Given the description of an element on the screen output the (x, y) to click on. 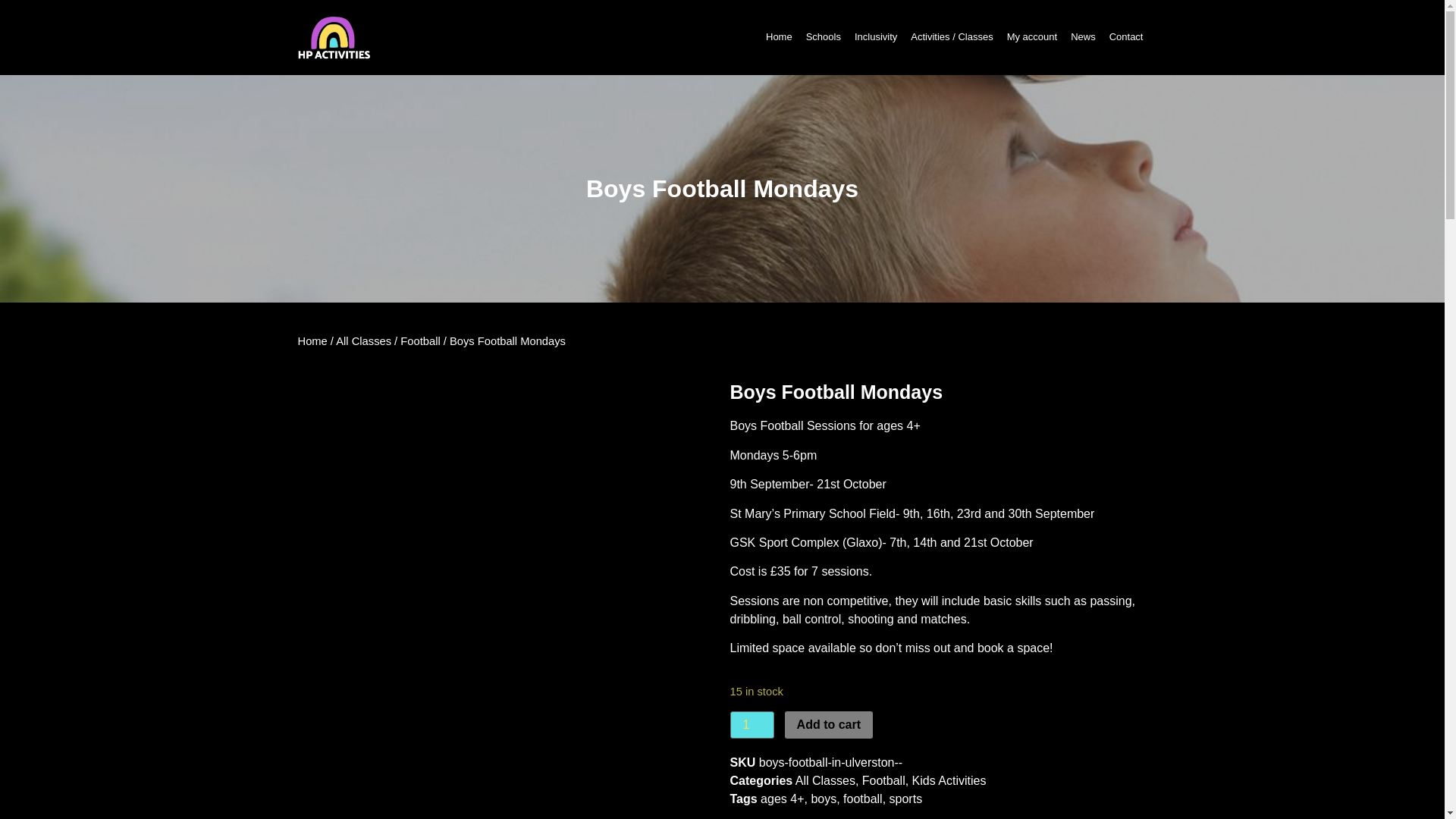
Schools (823, 36)
1 (751, 724)
News (1083, 36)
Contact (1126, 36)
My account (1032, 36)
Inclusivity (875, 36)
Home (778, 36)
